Given the description of an element on the screen output the (x, y) to click on. 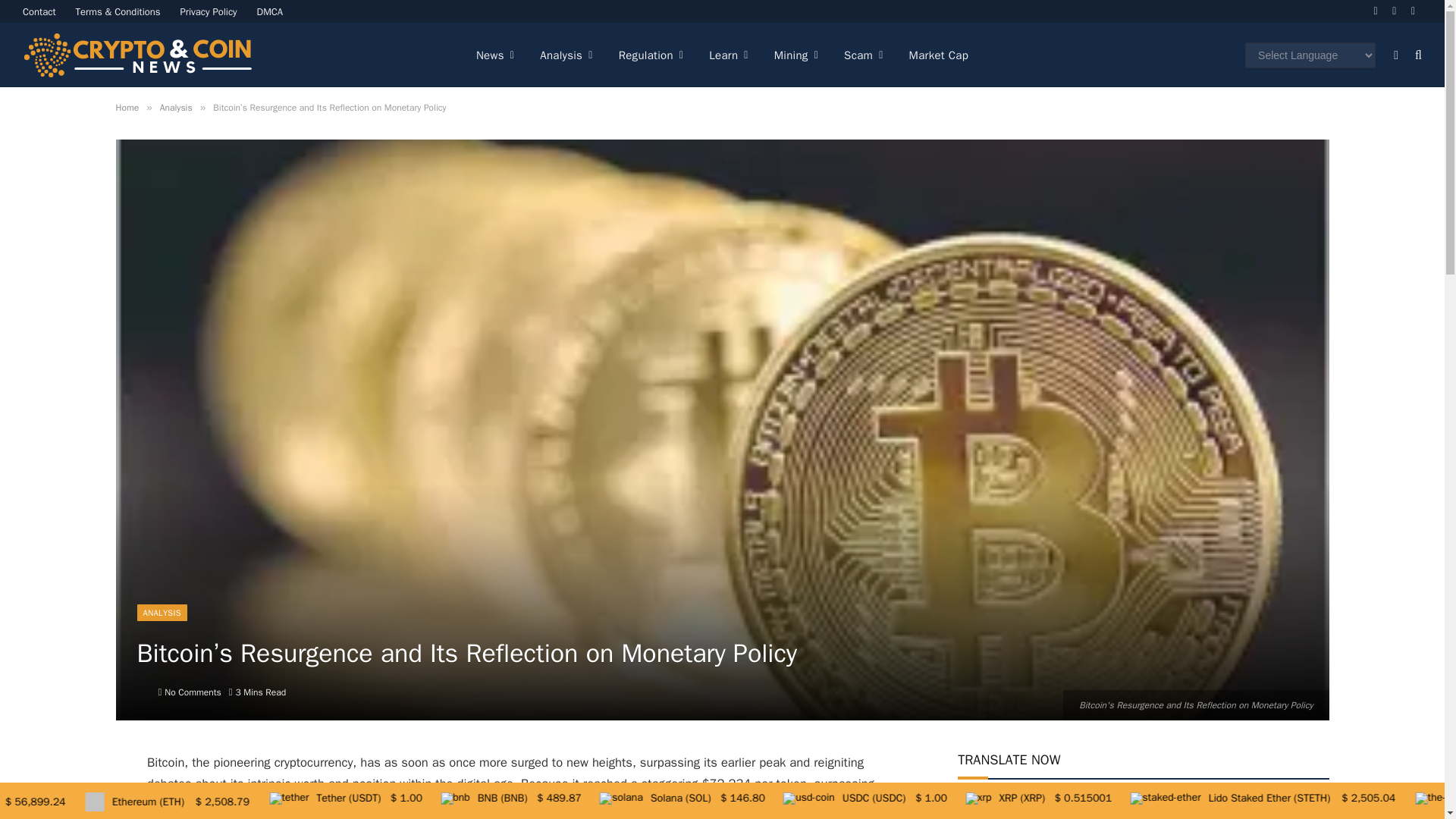
Analysis (566, 54)
DMCA (270, 11)
Privacy Policy (208, 11)
Crypto and Coin (137, 54)
Contact (39, 11)
News (495, 54)
